Given the description of an element on the screen output the (x, y) to click on. 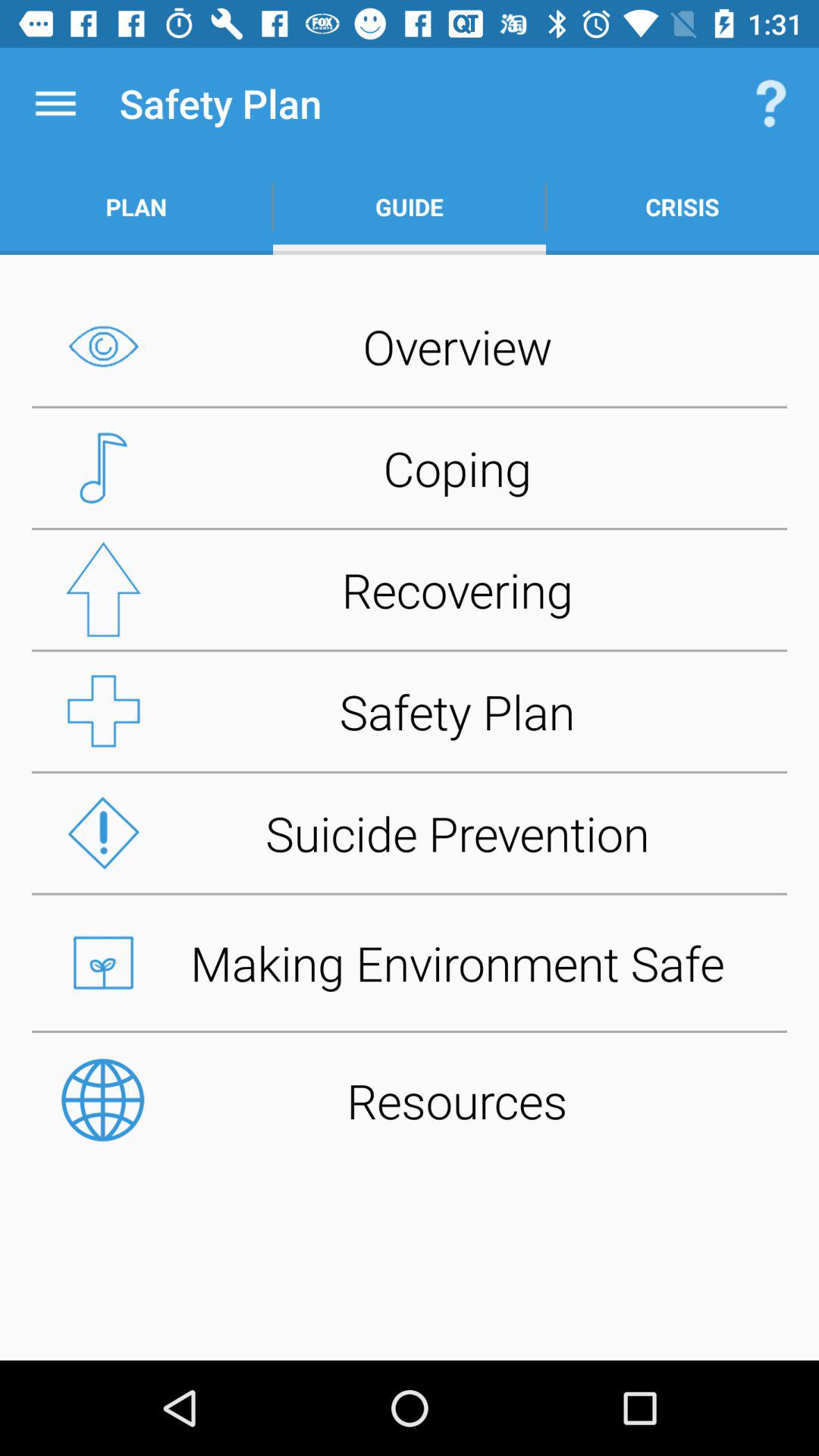
click the app next to guide app (771, 103)
